Given the description of an element on the screen output the (x, y) to click on. 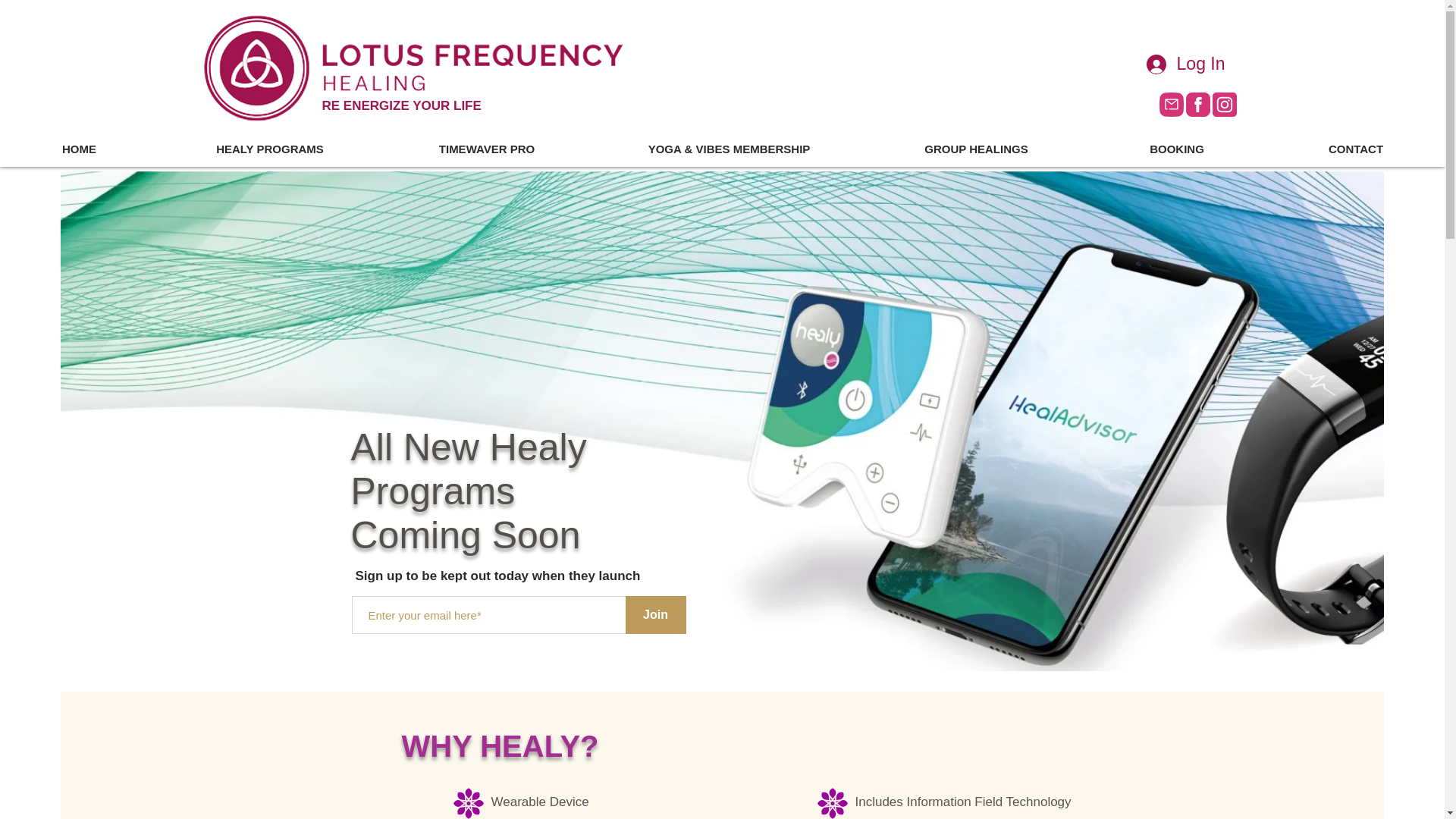
HEALY PROGRAMS (269, 149)
Log In (1185, 63)
TIMEWAVER PRO (486, 149)
BOOKING (1176, 149)
Join (654, 614)
11-removebg-preview.png (413, 67)
GROUP HEALINGS (975, 149)
HOME (79, 149)
